Given the description of an element on the screen output the (x, y) to click on. 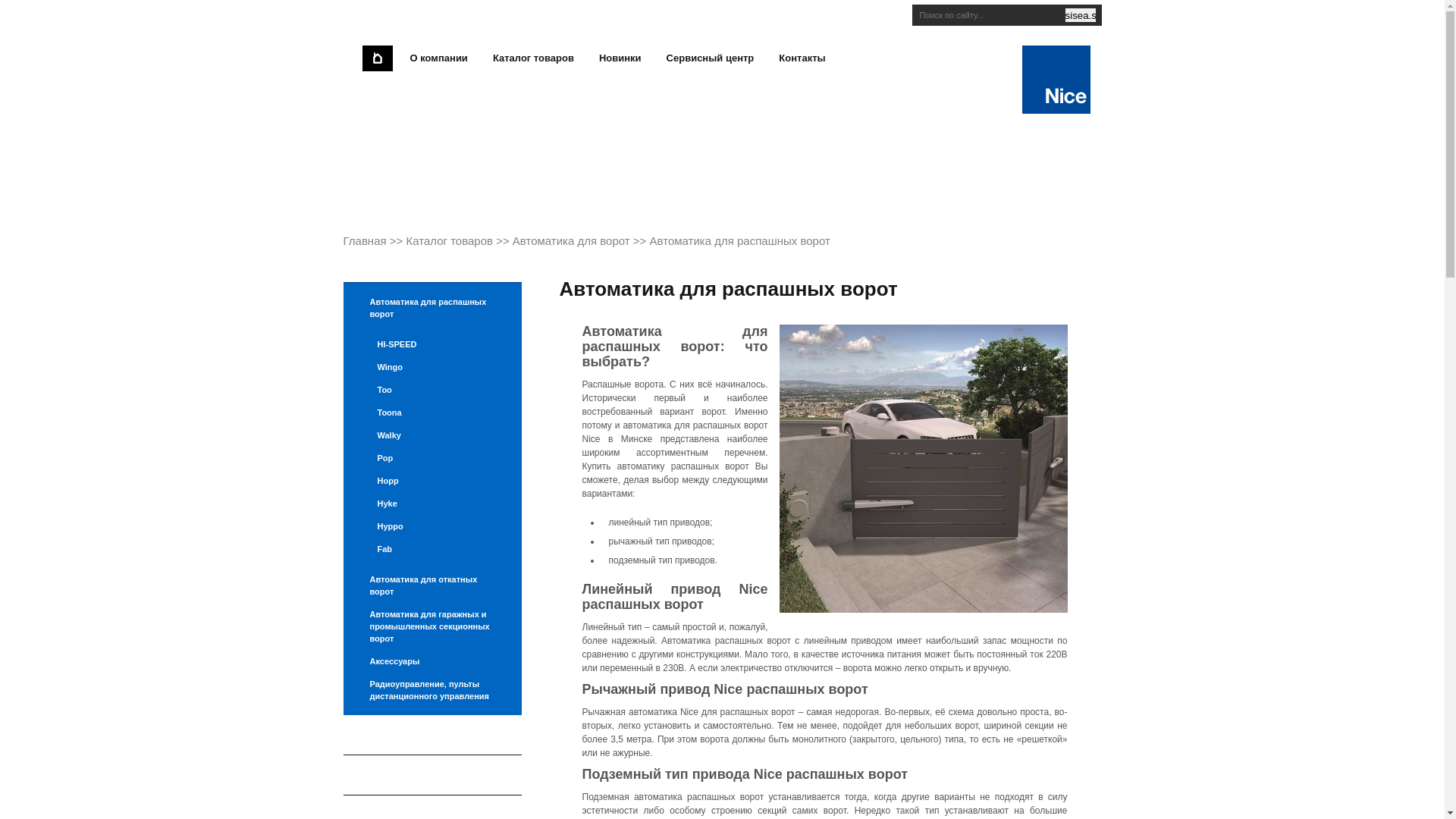
Hyke Element type: text (431, 503)
Hyppo Element type: text (431, 525)
HI-SPEED Element type: text (431, 343)
Walky Element type: text (431, 434)
Nice Element type: hover (1056, 107)
Too Element type: text (431, 389)
Wingo Element type: text (431, 366)
Toona Element type: text (431, 412)
sisea.search Element type: text (1079, 14)
Hopp Element type: text (431, 480)
Pop Element type: text (431, 457)
Fab Element type: text (431, 548)
